Given the description of an element on the screen output the (x, y) to click on. 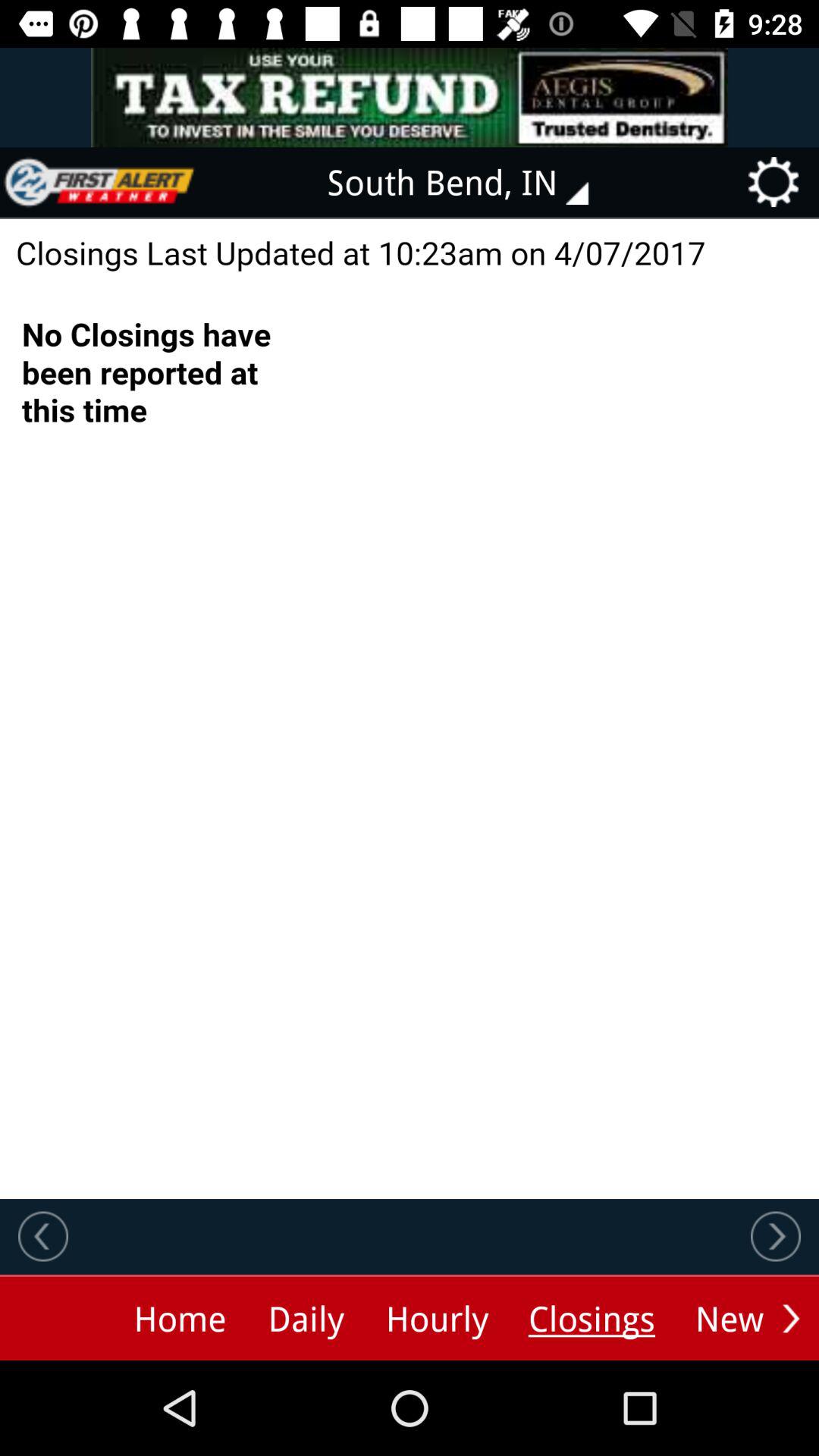
go bac (43, 1236)
